Given the description of an element on the screen output the (x, y) to click on. 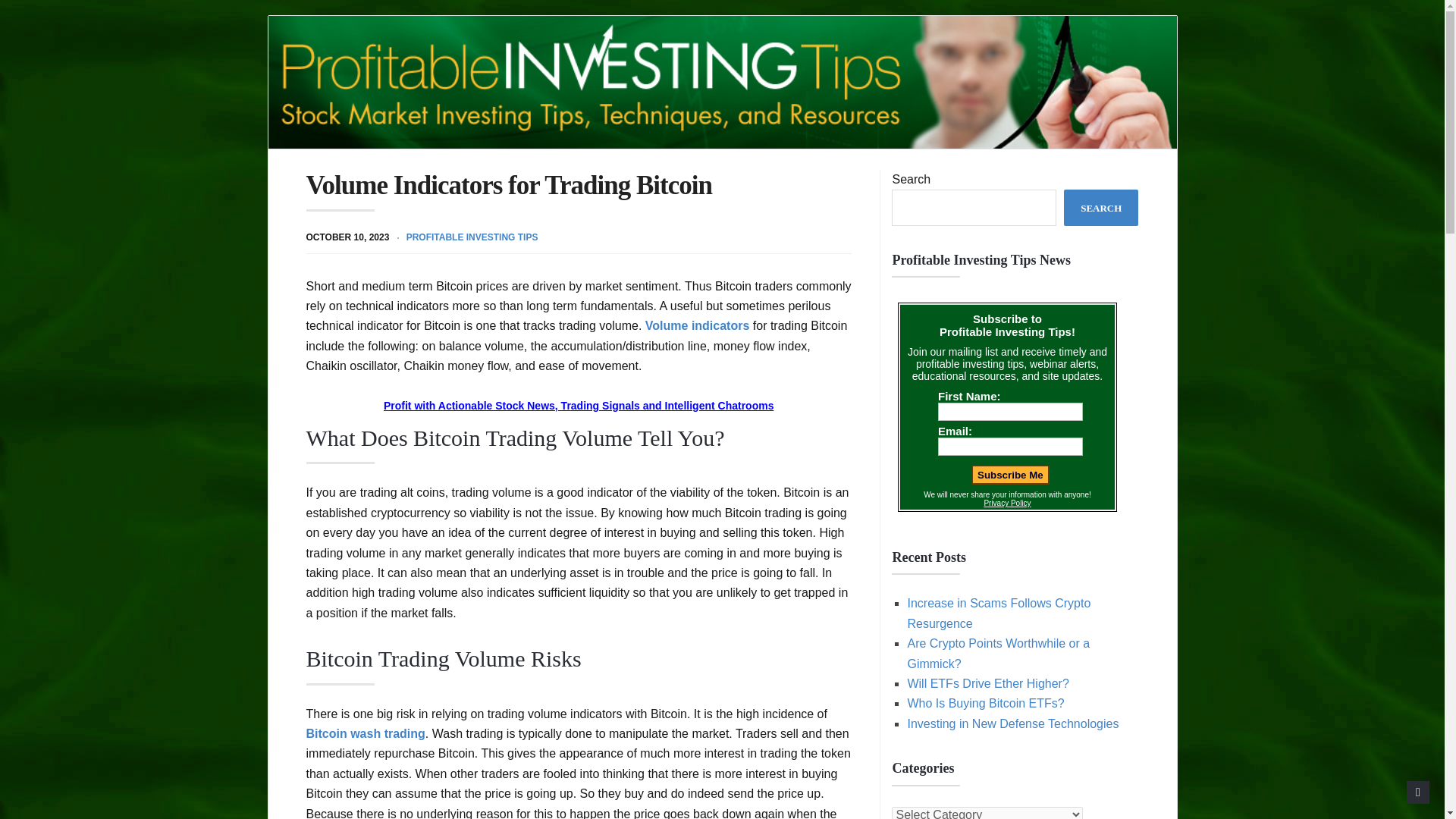
Bitcoin wash trading (365, 733)
Volume indicators (697, 325)
SEARCH (1101, 207)
Increase in Scams Follows Crypto Resurgence (998, 613)
Who Is Buying Bitcoin ETFs? (985, 703)
Are Crypto Points Worthwhile or a Gimmick? (998, 653)
Will ETFs Drive Ether Higher? (987, 683)
Investing in New Defense Technologies (1012, 723)
Profitable Investing Tips (721, 81)
PROFITABLE INVESTING TIPS (472, 236)
